Given the description of an element on the screen output the (x, y) to click on. 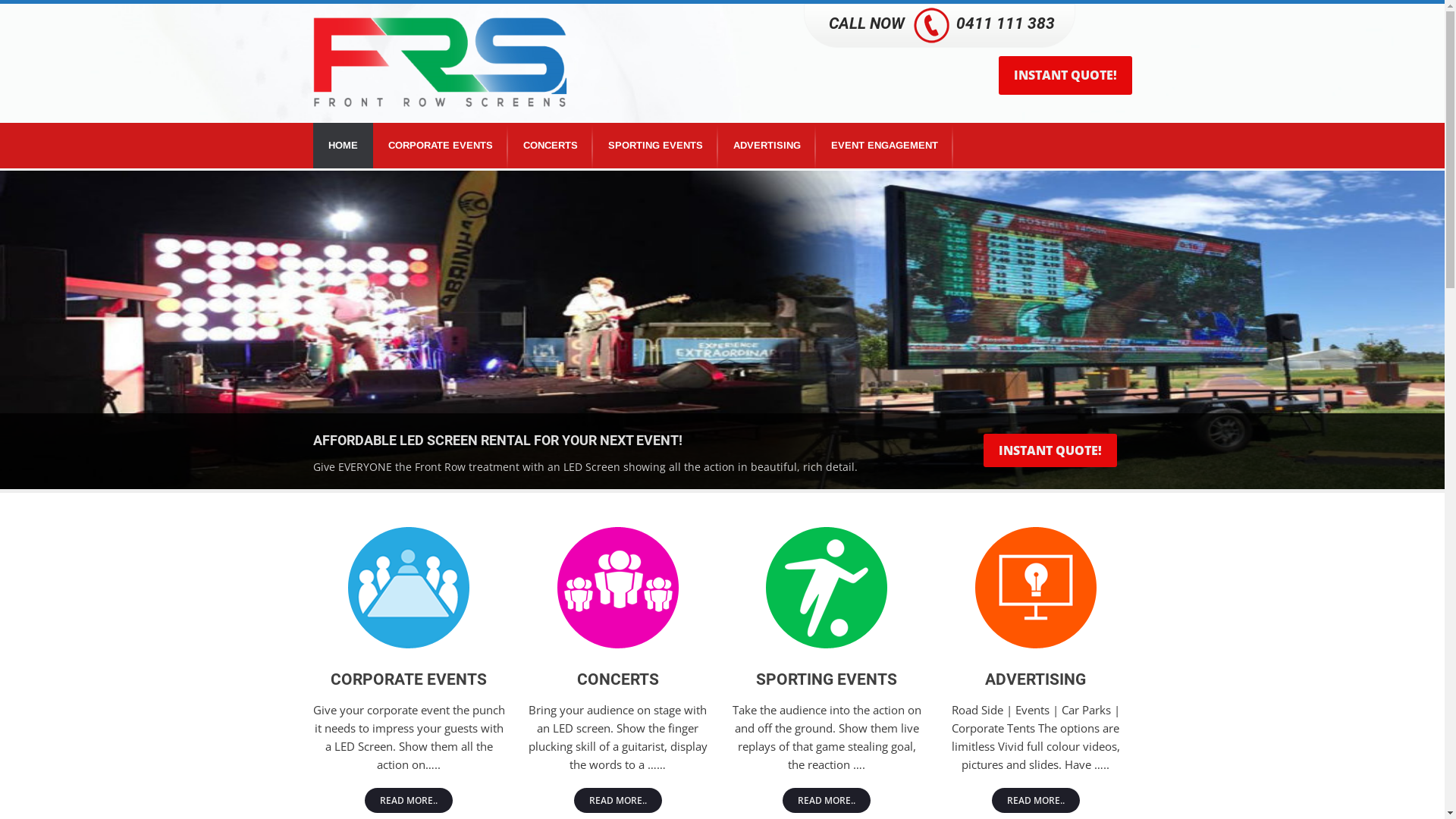
ADVERTISING Element type: text (766, 145)
CONCERTS Element type: text (550, 145)
READ MORE.. Element type: text (618, 799)
READ MORE.. Element type: text (826, 799)
SPORTING EVENTS Element type: text (655, 145)
INSTANT QUOTE! Element type: text (1064, 75)
INSTANT QUOTE! Element type: text (1049, 450)
READ MORE.. Element type: text (408, 799)
READ MORE.. Element type: text (1035, 799)
HOME Element type: text (342, 145)
Front Row Screen : LED screen rental and Mobile LED screen Element type: hover (439, 61)
CORPORATE EVENTS Element type: text (440, 145)
EVENT ENGAGEMENT Element type: text (884, 145)
